Given the description of an element on the screen output the (x, y) to click on. 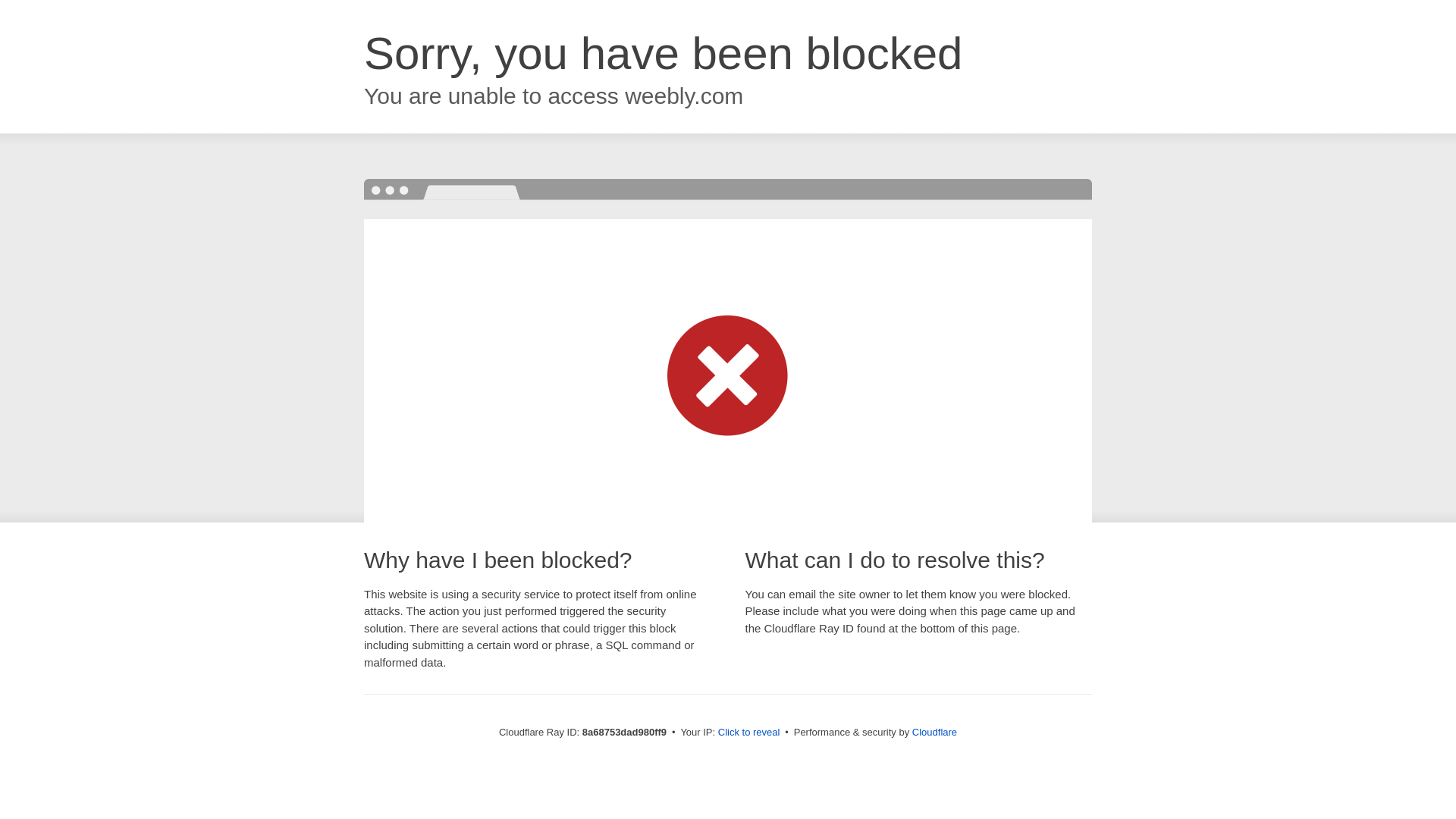
Cloudflare (934, 731)
Click to reveal (748, 732)
